Given the description of an element on the screen output the (x, y) to click on. 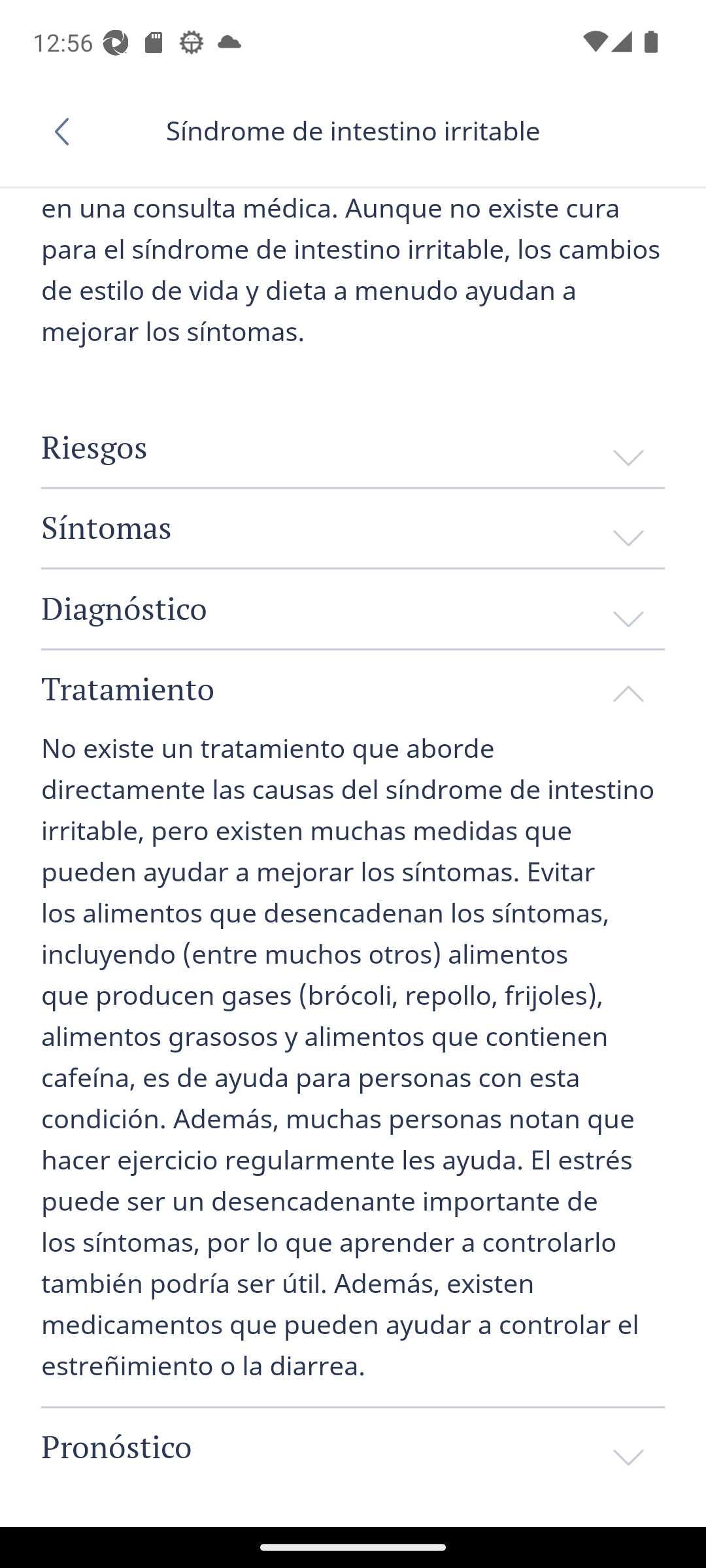
Go back, Navigates to the previous screen (68, 131)
Riesgos  (352, 446)
Síntomas  (352, 526)
Diagnóstico  (352, 608)
Tratamiento  (352, 688)
Pronóstico  (352, 1447)
